Given the description of an element on the screen output the (x, y) to click on. 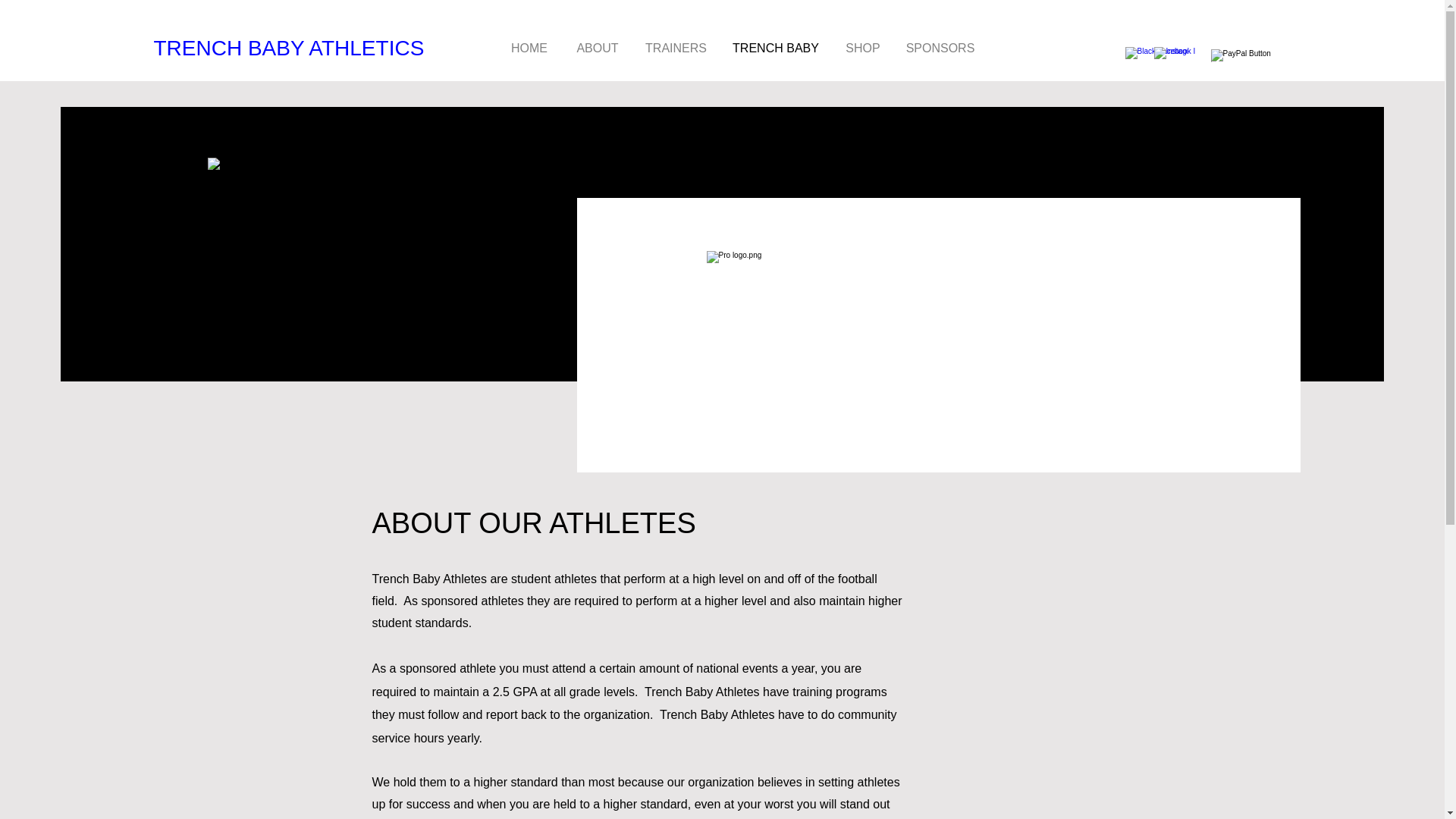
TRAINERS (675, 47)
ABOUT (597, 47)
TRENCH BABY (775, 47)
SPONSORS (940, 47)
HOME (529, 47)
SHOP (862, 47)
TRENCH BABY ATHLETICS (287, 48)
